Given the description of an element on the screen output the (x, y) to click on. 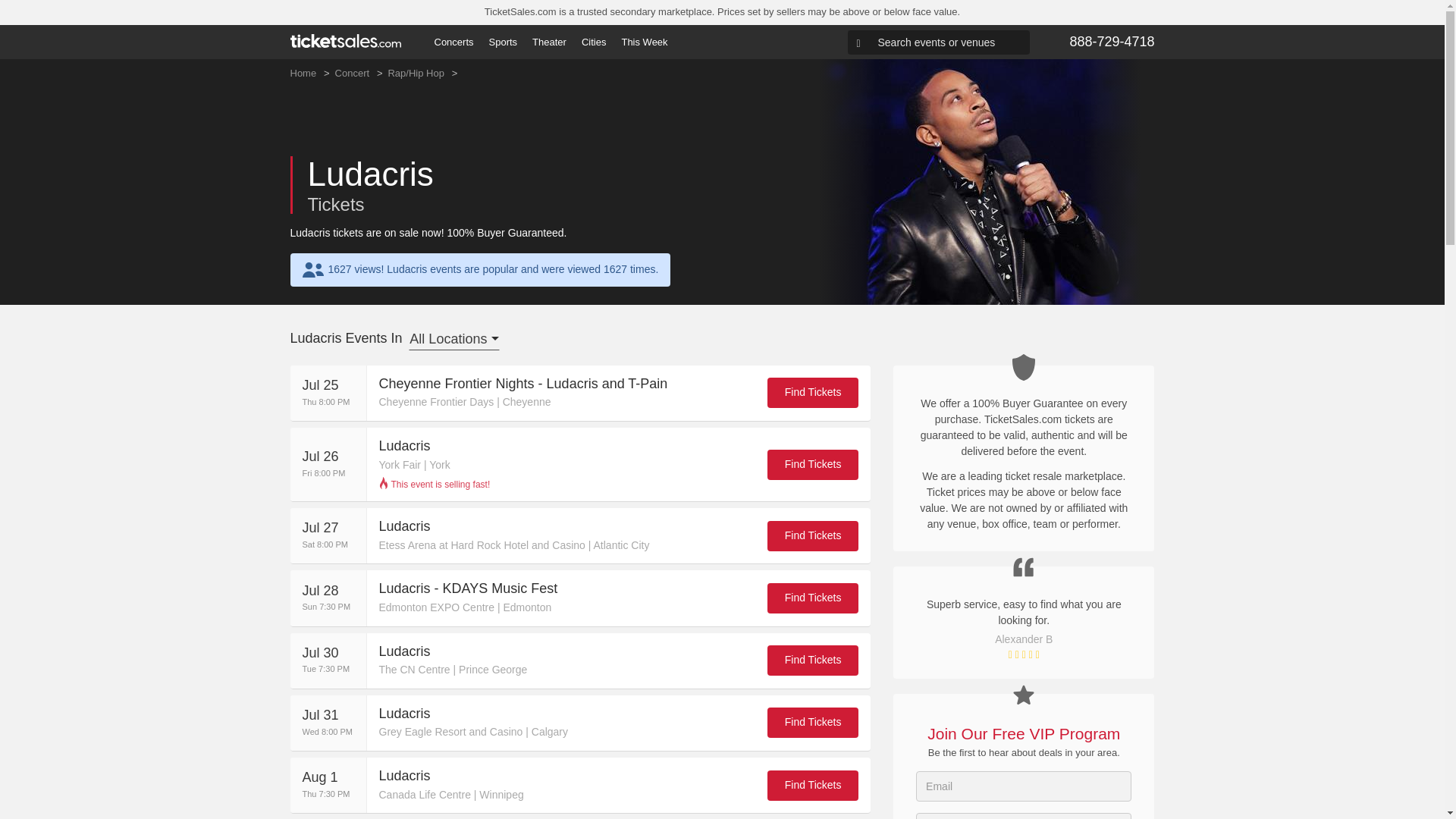
Concerts (453, 42)
TicketSales (344, 40)
TicketSales (344, 40)
